Given the description of an element on the screen output the (x, y) to click on. 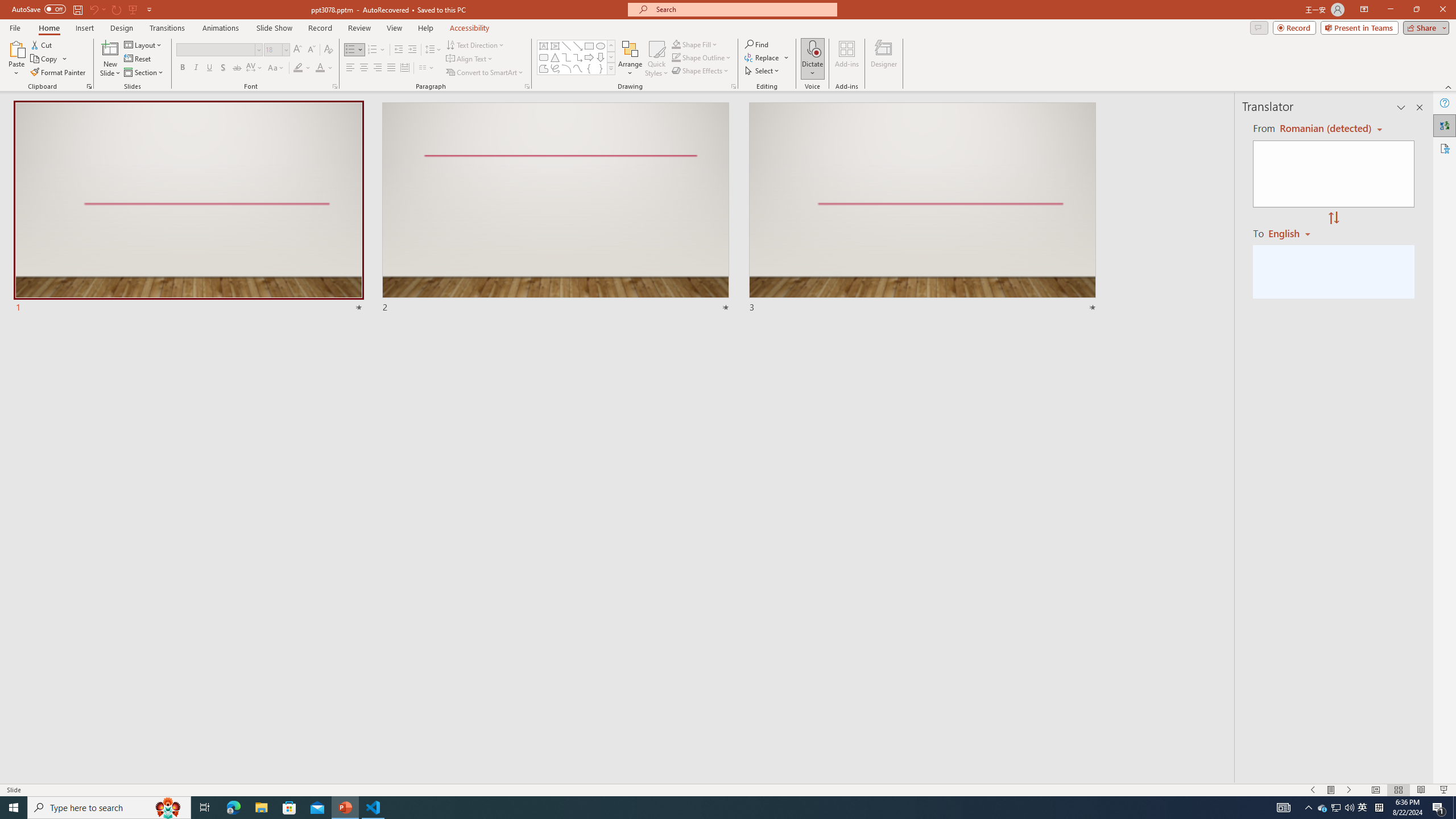
Slide Show Next On (1349, 790)
Arrow: Right (589, 57)
Shape Fill Dark Green, Accent 2 (675, 44)
Text Direction (476, 44)
Underline (209, 67)
Justify (390, 67)
Reset (138, 58)
